Given the description of an element on the screen output the (x, y) to click on. 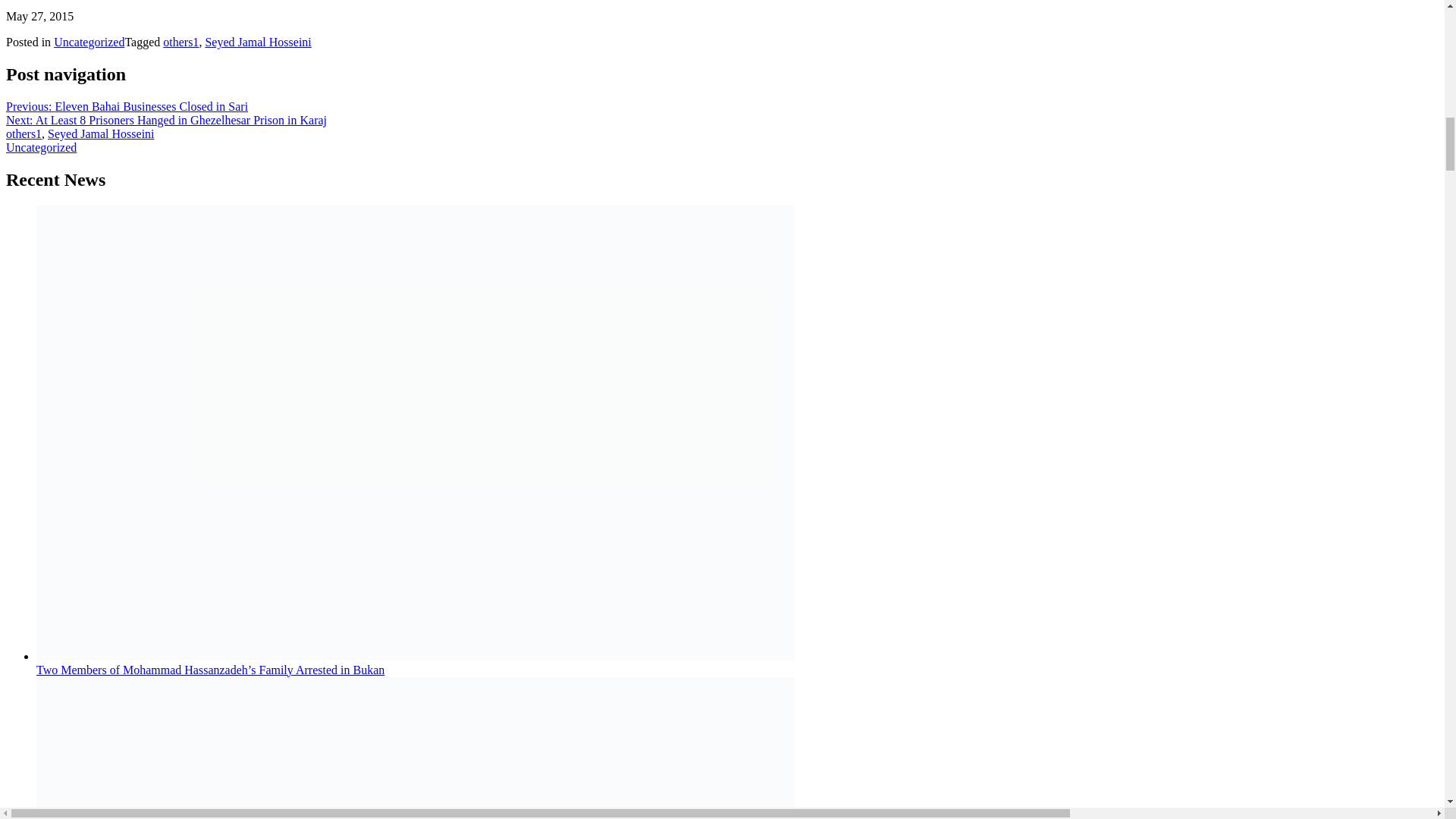
Seyed Jamal Hosseini (258, 42)
Previous: Eleven Bahai Businesses Closed in Sari (126, 106)
Uncategorized (88, 42)
others1 (180, 42)
